Given the description of an element on the screen output the (x, y) to click on. 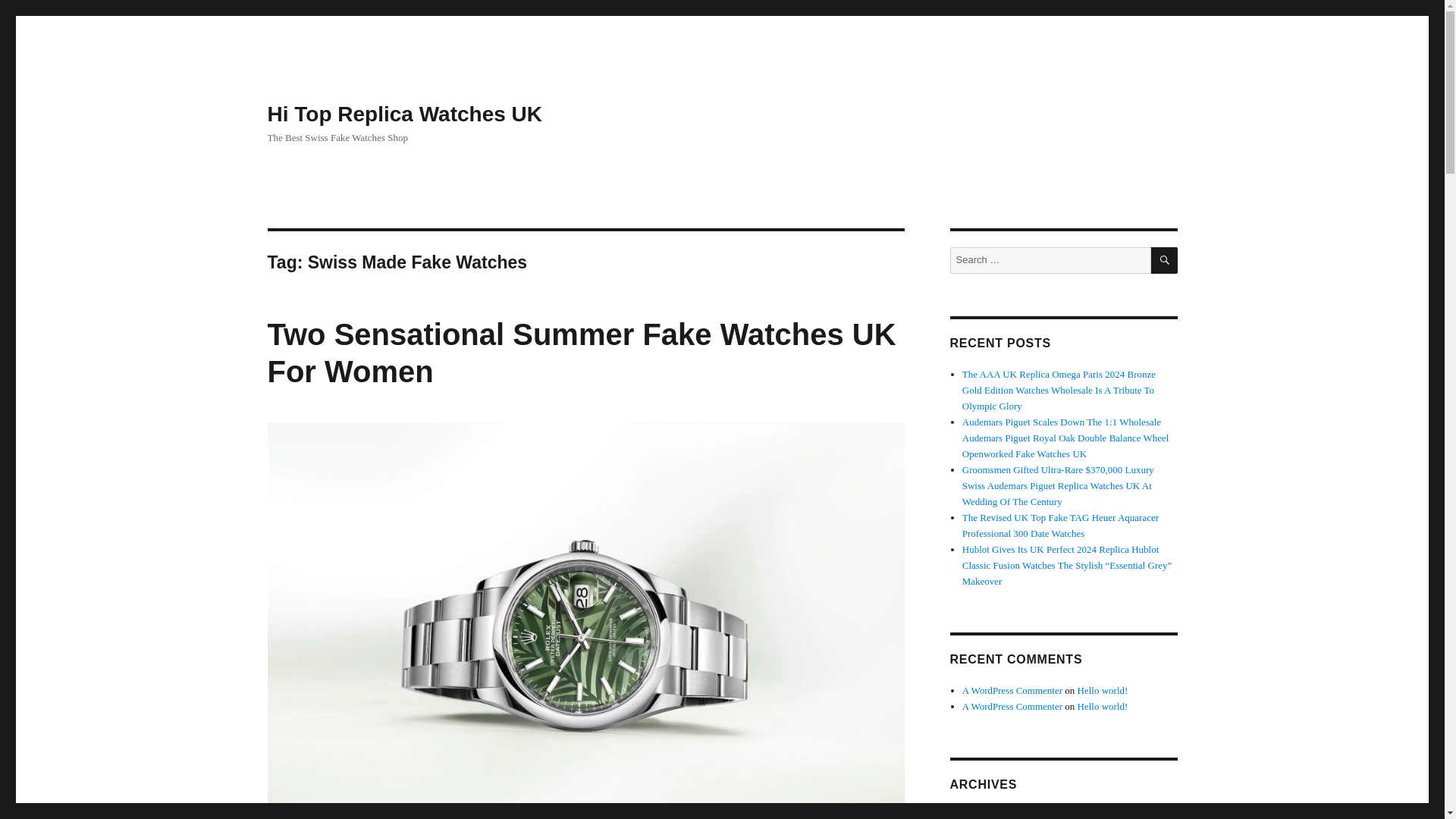
A WordPress Commenter (1012, 706)
A WordPress Commenter (1012, 690)
Hello world! (1102, 706)
Hi Top Replica Watches UK (403, 114)
Hello world! (1102, 690)
SEARCH (1164, 260)
Two Sensational Summer Fake Watches UK For Women (580, 352)
